Given the description of an element on the screen output the (x, y) to click on. 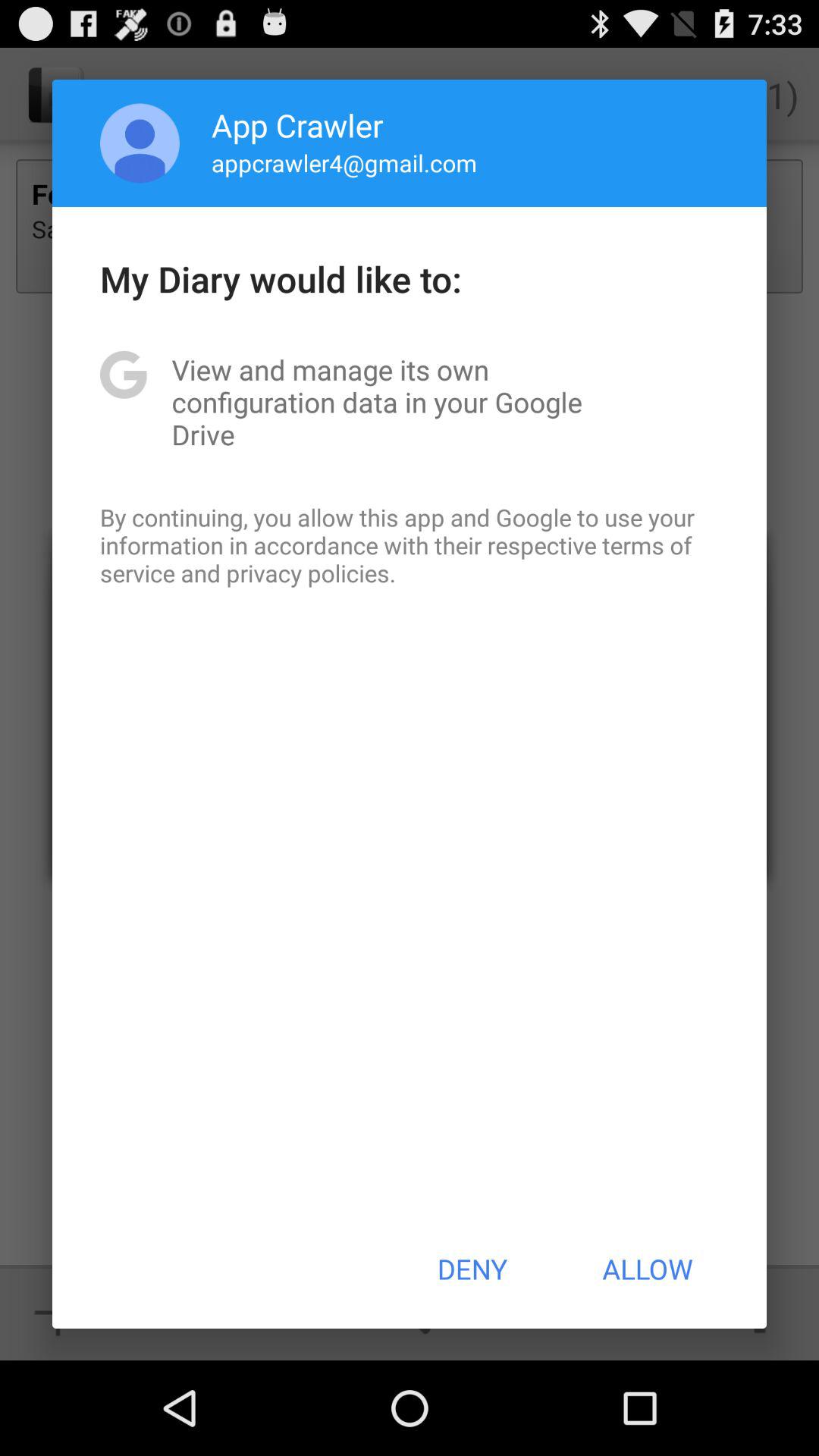
scroll until the appcrawler4@gmail.com item (344, 162)
